Given the description of an element on the screen output the (x, y) to click on. 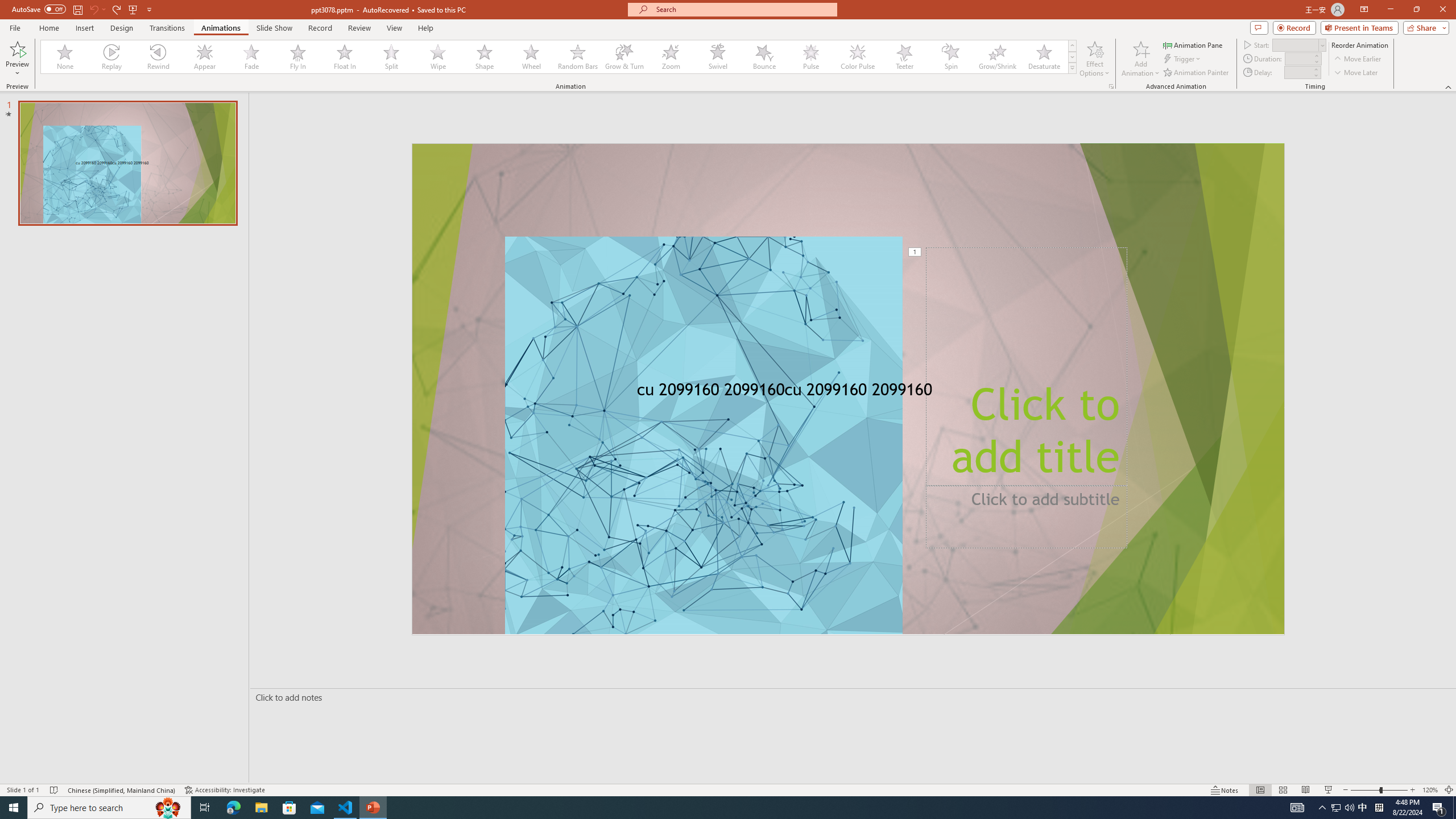
Shape (484, 56)
Animation Duration (1298, 58)
Trigger (1182, 58)
Animation Pane (1193, 44)
Swivel (717, 56)
Replay (111, 56)
Animation Painter (1196, 72)
